Given the description of an element on the screen output the (x, y) to click on. 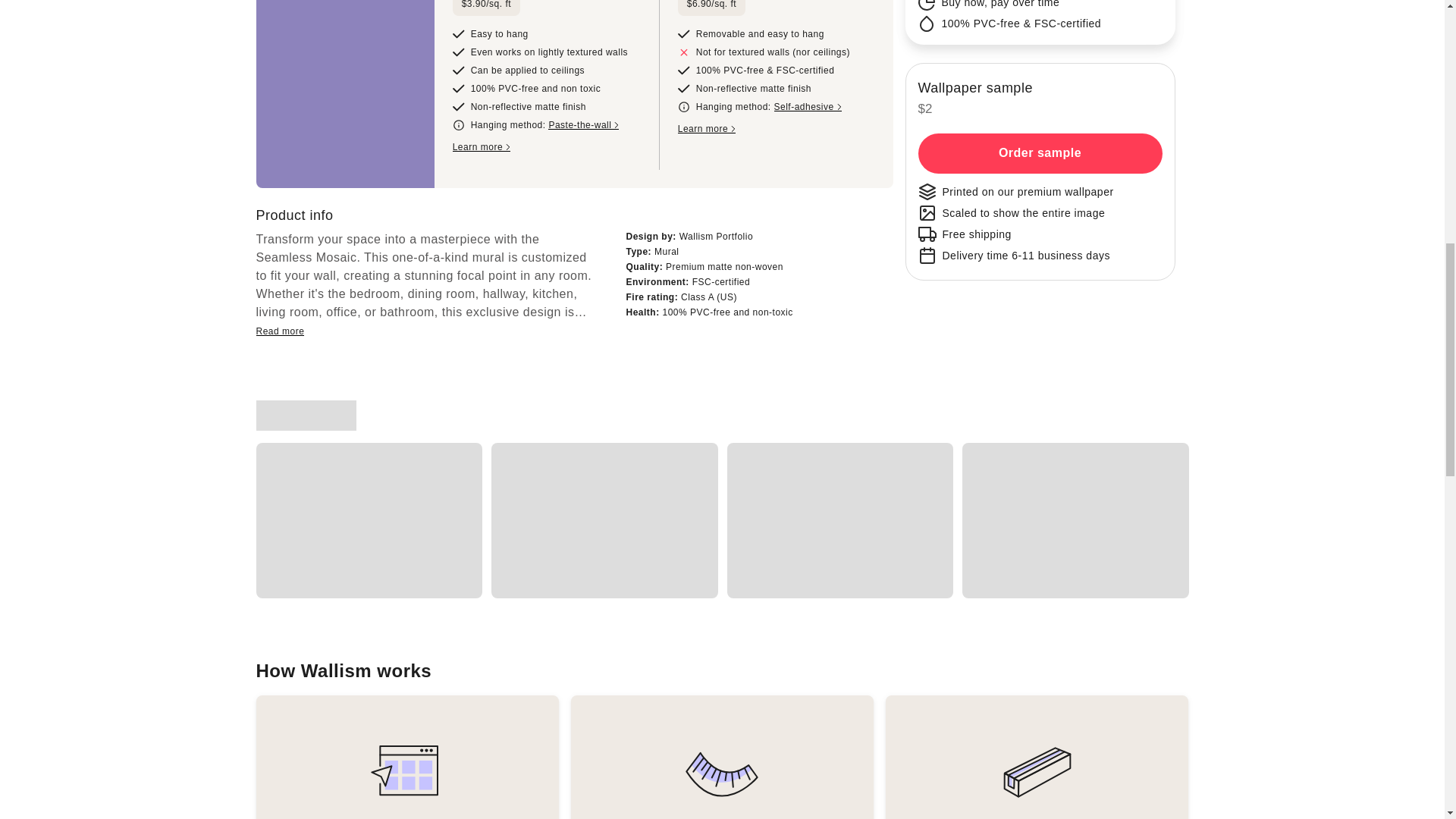
Order sample (1039, 153)
Learn more (706, 129)
Read more (280, 331)
Self-adhesive (807, 107)
Learn more (481, 147)
Paste-the-wall (583, 125)
